Given the description of an element on the screen output the (x, y) to click on. 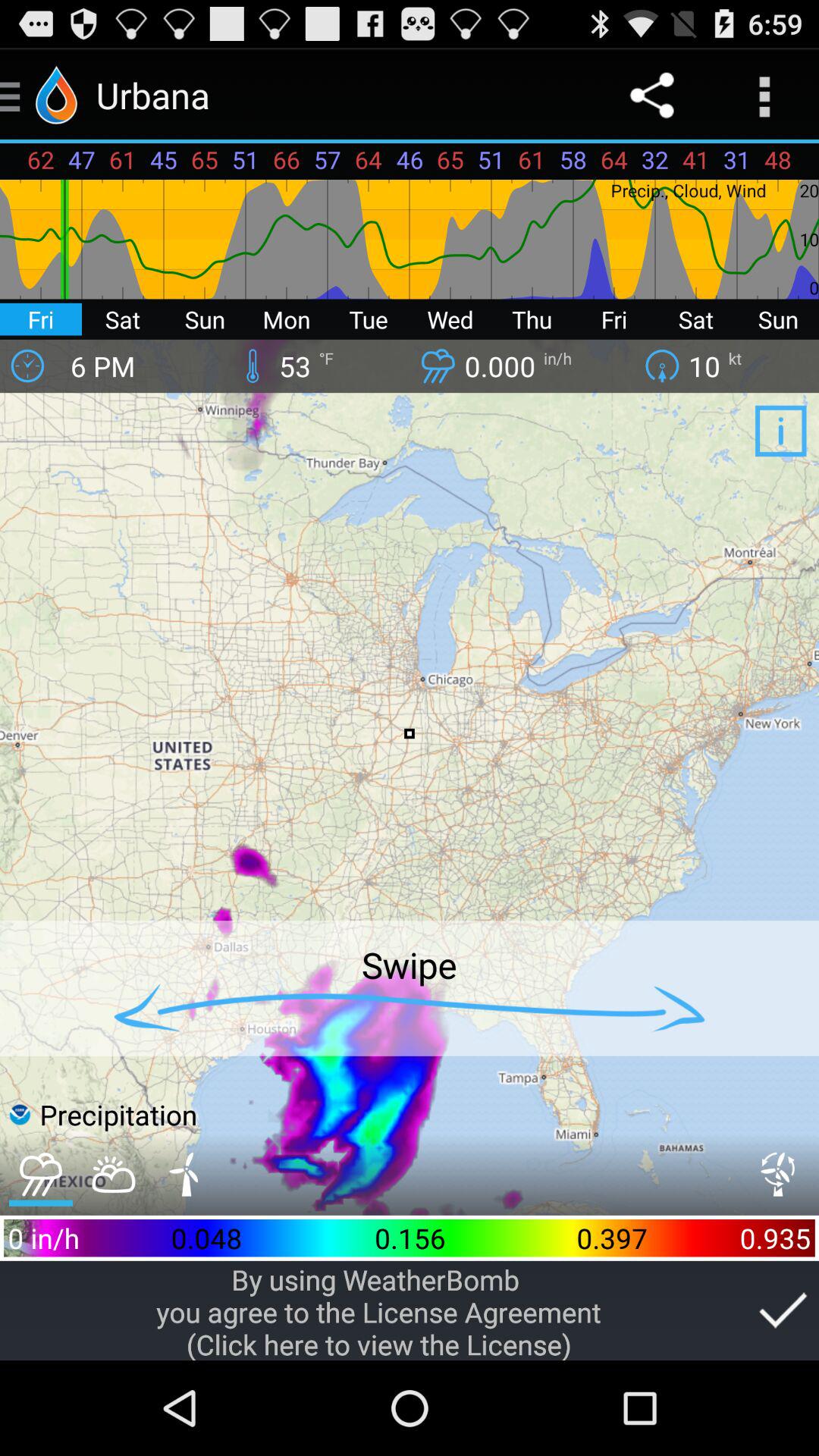
click app below kt icon (780, 430)
